Given the description of an element on the screen output the (x, y) to click on. 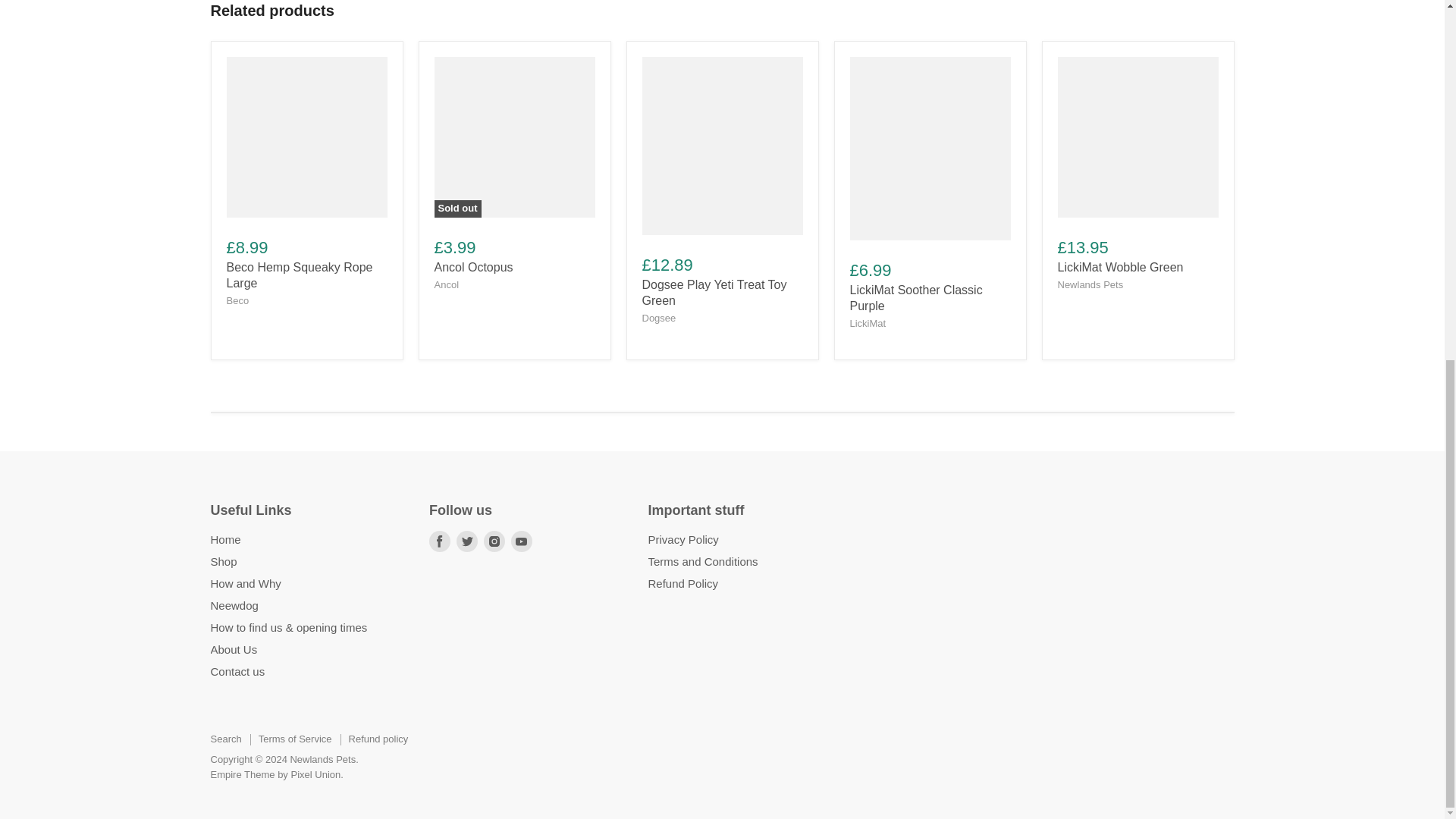
Instagram (494, 541)
Twitter (466, 541)
Facebook (439, 541)
Youtube (521, 541)
